Given the description of an element on the screen output the (x, y) to click on. 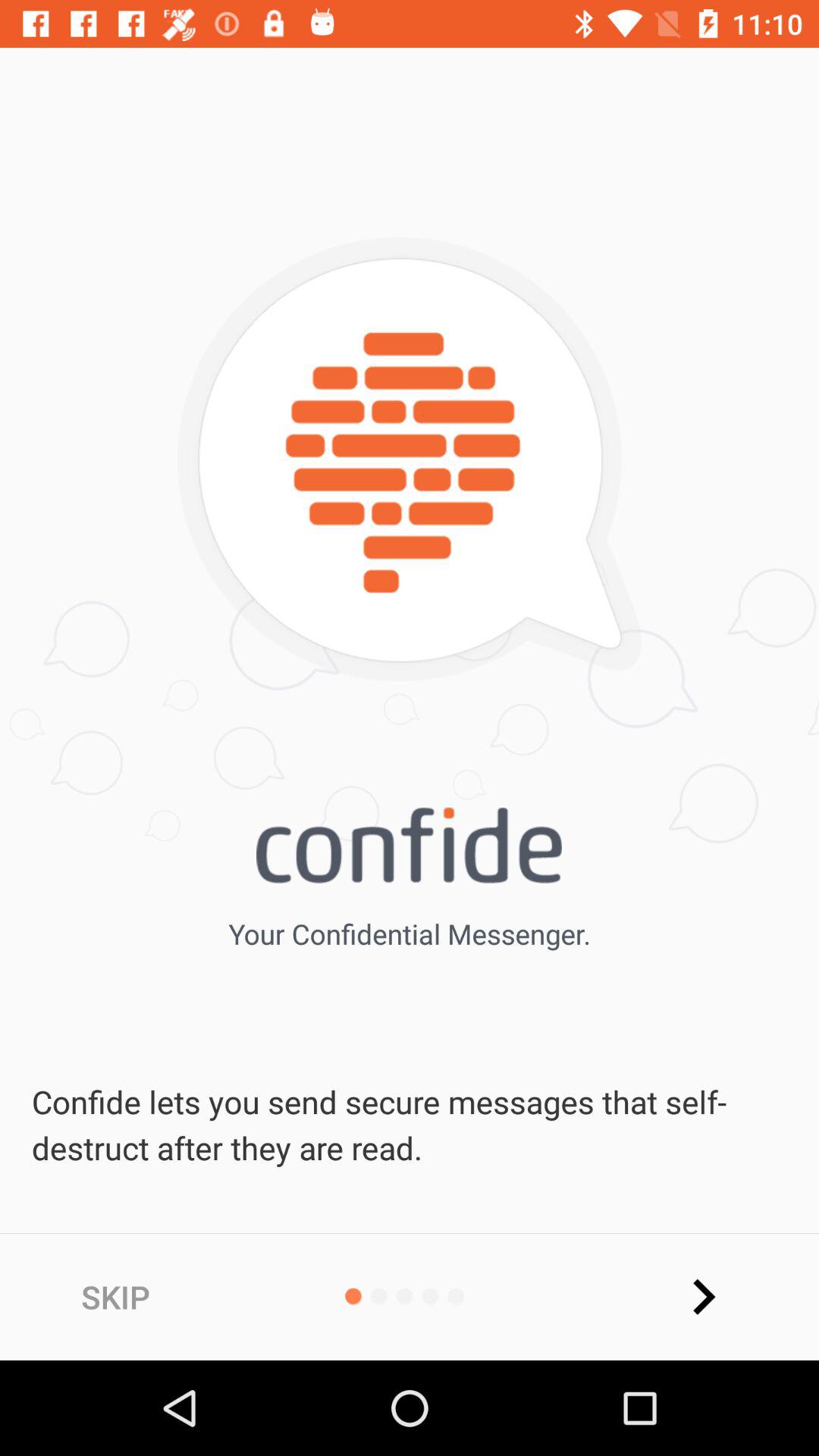
jump until skip icon (114, 1296)
